Given the description of an element on the screen output the (x, y) to click on. 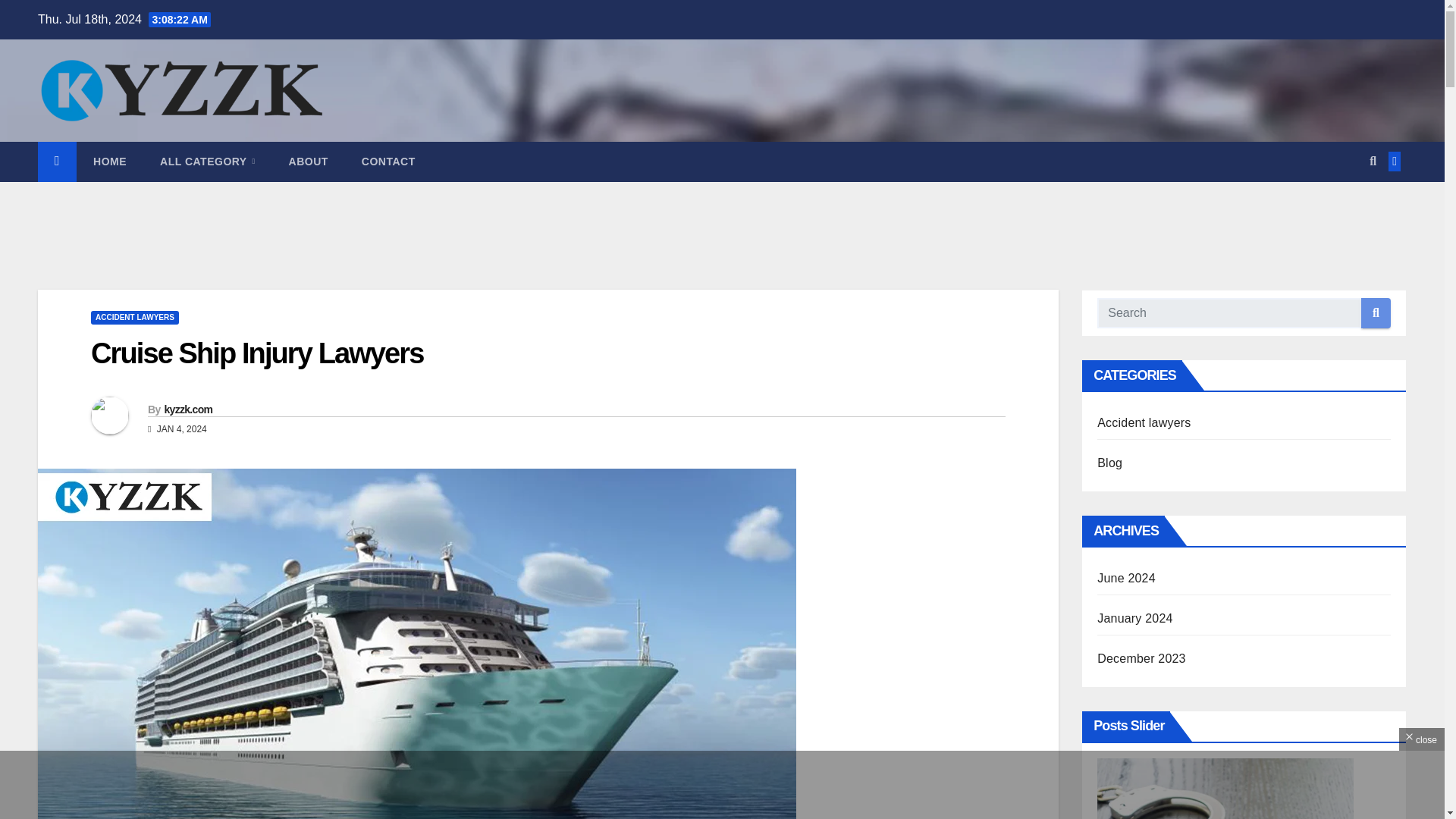
Permalink to: Cruise Ship Injury Lawyers (256, 353)
About (308, 160)
kyzzk.com (187, 409)
All Category (206, 160)
ABOUT (308, 160)
ACCIDENT LAWYERS (134, 317)
CONTACT (388, 160)
Cruise Ship Injury Lawyers (256, 353)
Home (109, 160)
HOME (109, 160)
Contact (388, 160)
ALL CATEGORY (206, 160)
